Given the description of an element on the screen output the (x, y) to click on. 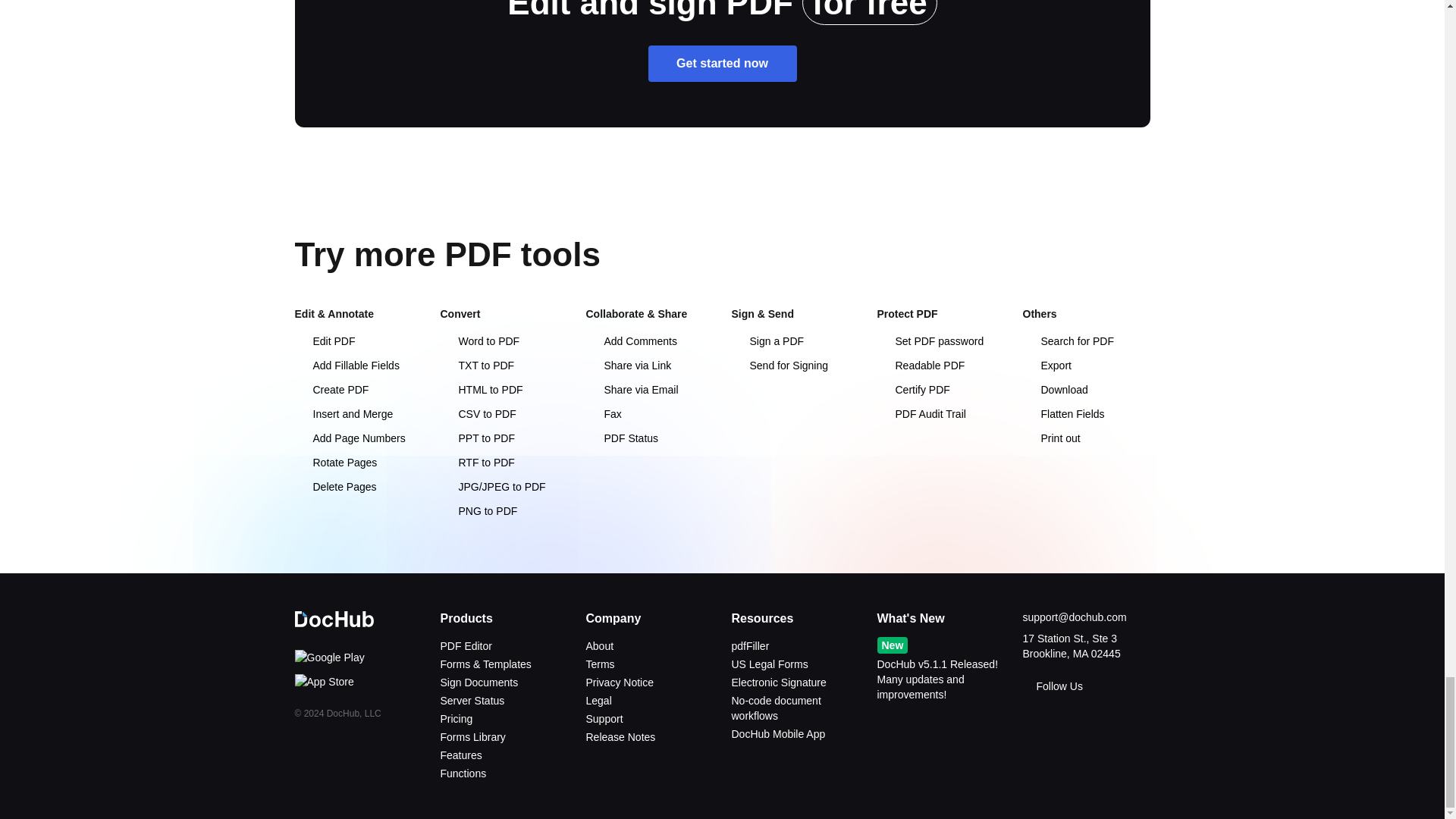
TXT to PDF (476, 365)
HTML to PDF (480, 389)
PPT to PDF (476, 438)
Edit PDF (324, 340)
Share via Link (628, 365)
Word to PDF (479, 340)
Fax (603, 413)
Delete Pages (334, 486)
RTF to PDF (476, 462)
CSV to PDF (477, 413)
